Given the description of an element on the screen output the (x, y) to click on. 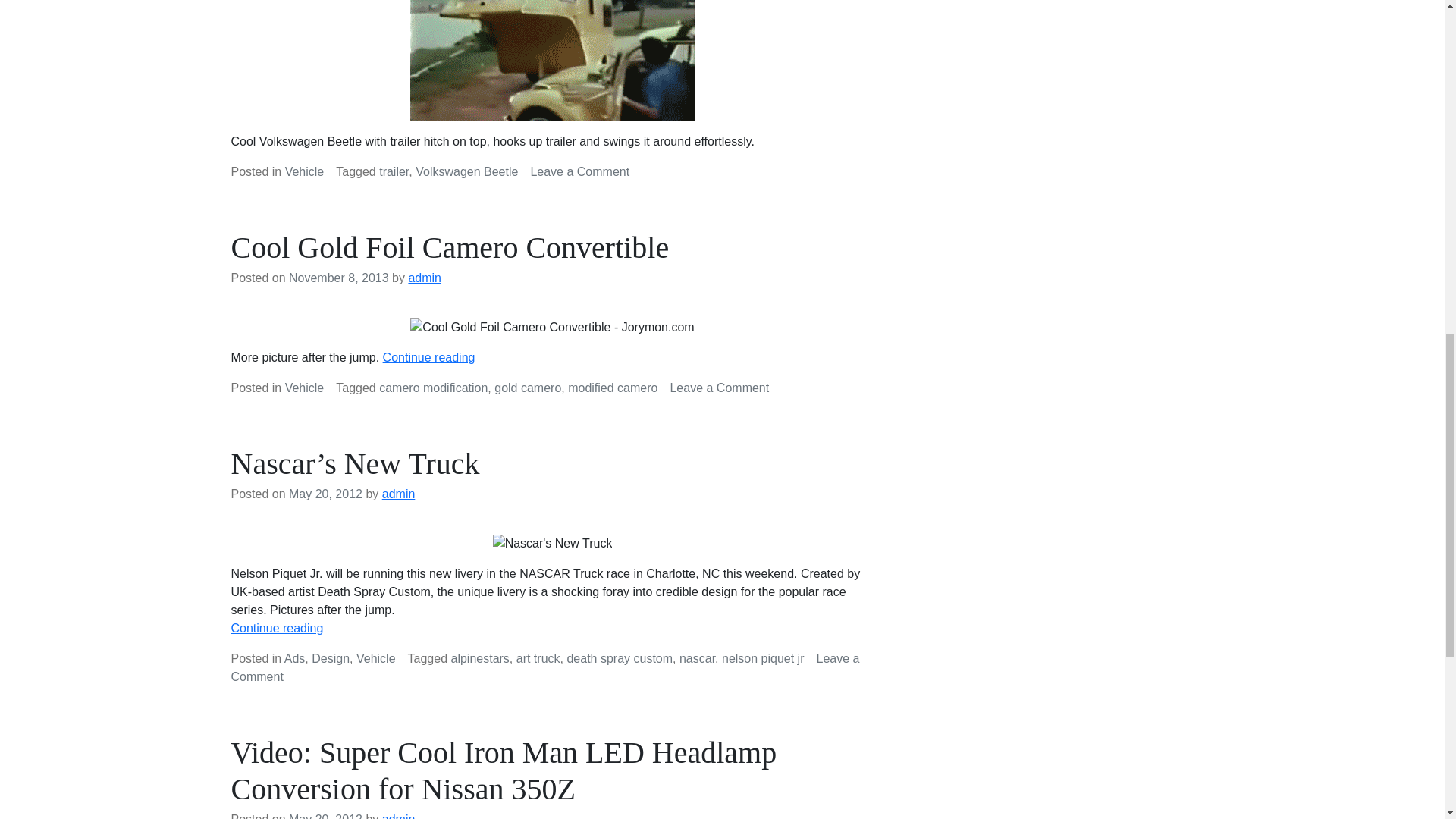
trailer (393, 171)
Design (330, 658)
Vehicle (376, 658)
admin (424, 277)
camero modification (578, 171)
Vehicle (432, 387)
admin (304, 387)
death spray custom (397, 493)
